Given the description of an element on the screen output the (x, y) to click on. 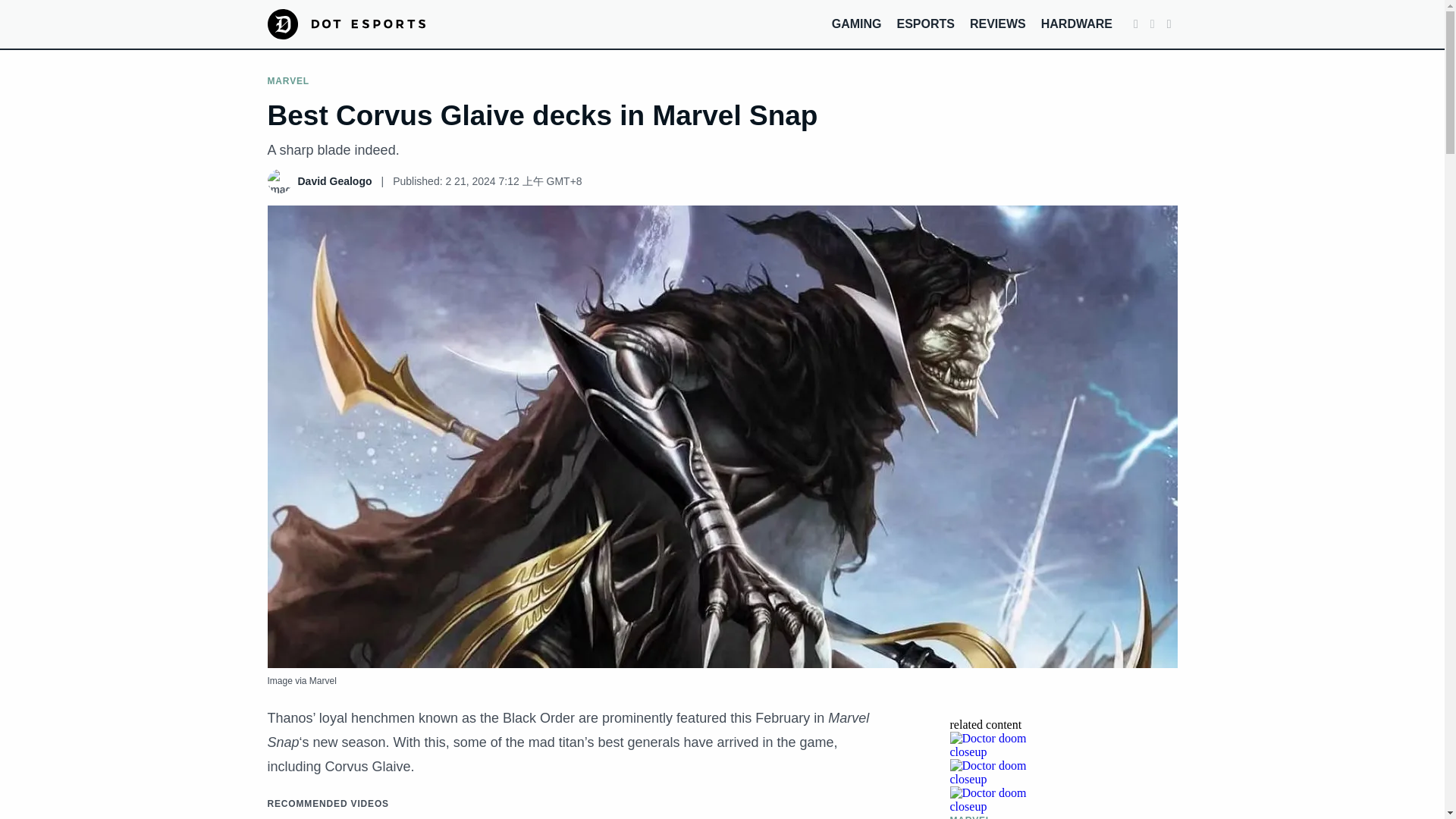
GAMING (856, 23)
HARDWARE (1076, 23)
ESPORTS (924, 23)
REVIEWS (997, 23)
